Given the description of an element on the screen output the (x, y) to click on. 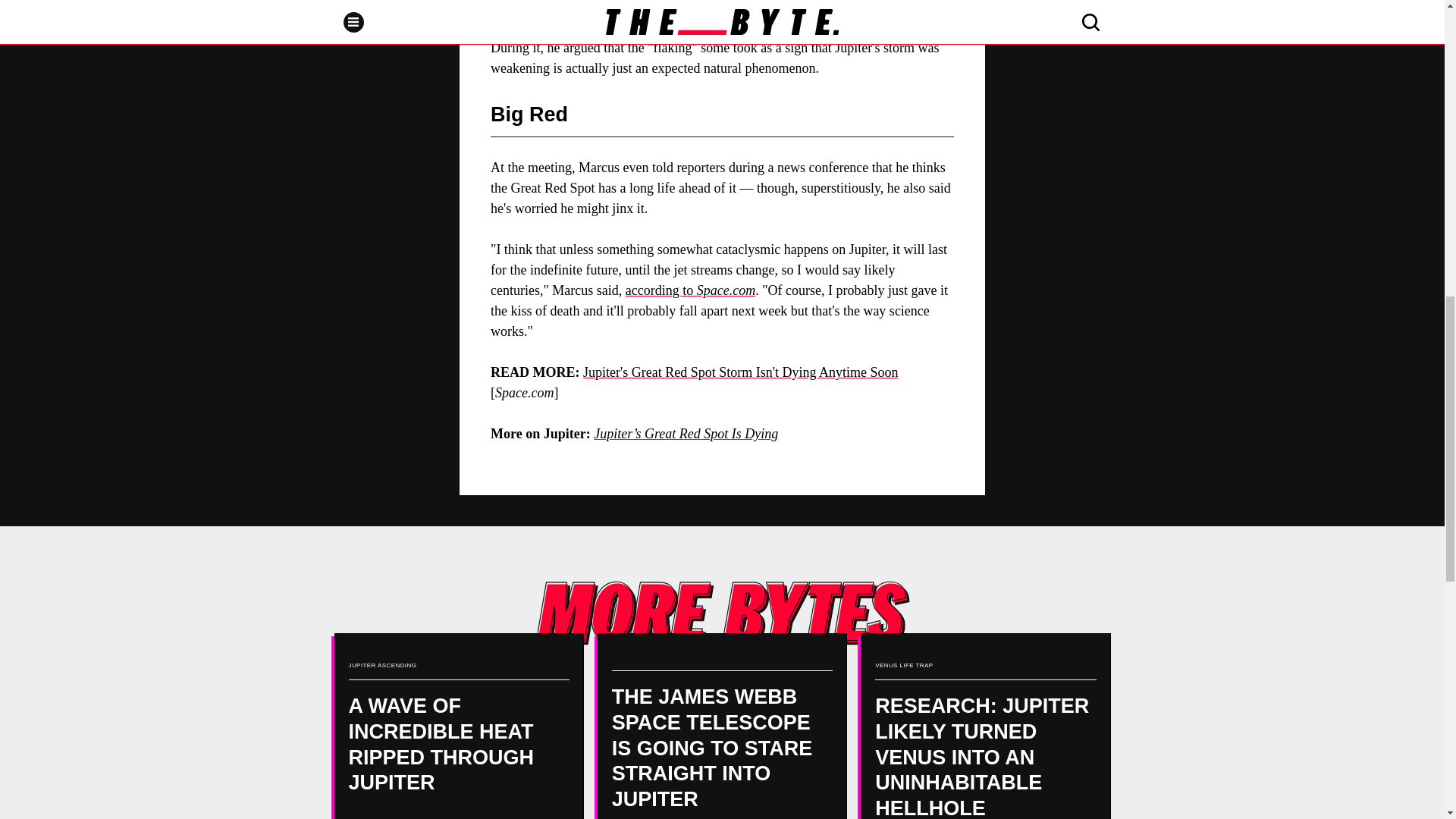
according to Space.com (690, 290)
A Wave of Incredible Heat Ripped Through Jupiter (458, 726)
Jupiter's Great Red Spot Storm Isn't Dying Anytime Soon (740, 372)
